Given the description of an element on the screen output the (x, y) to click on. 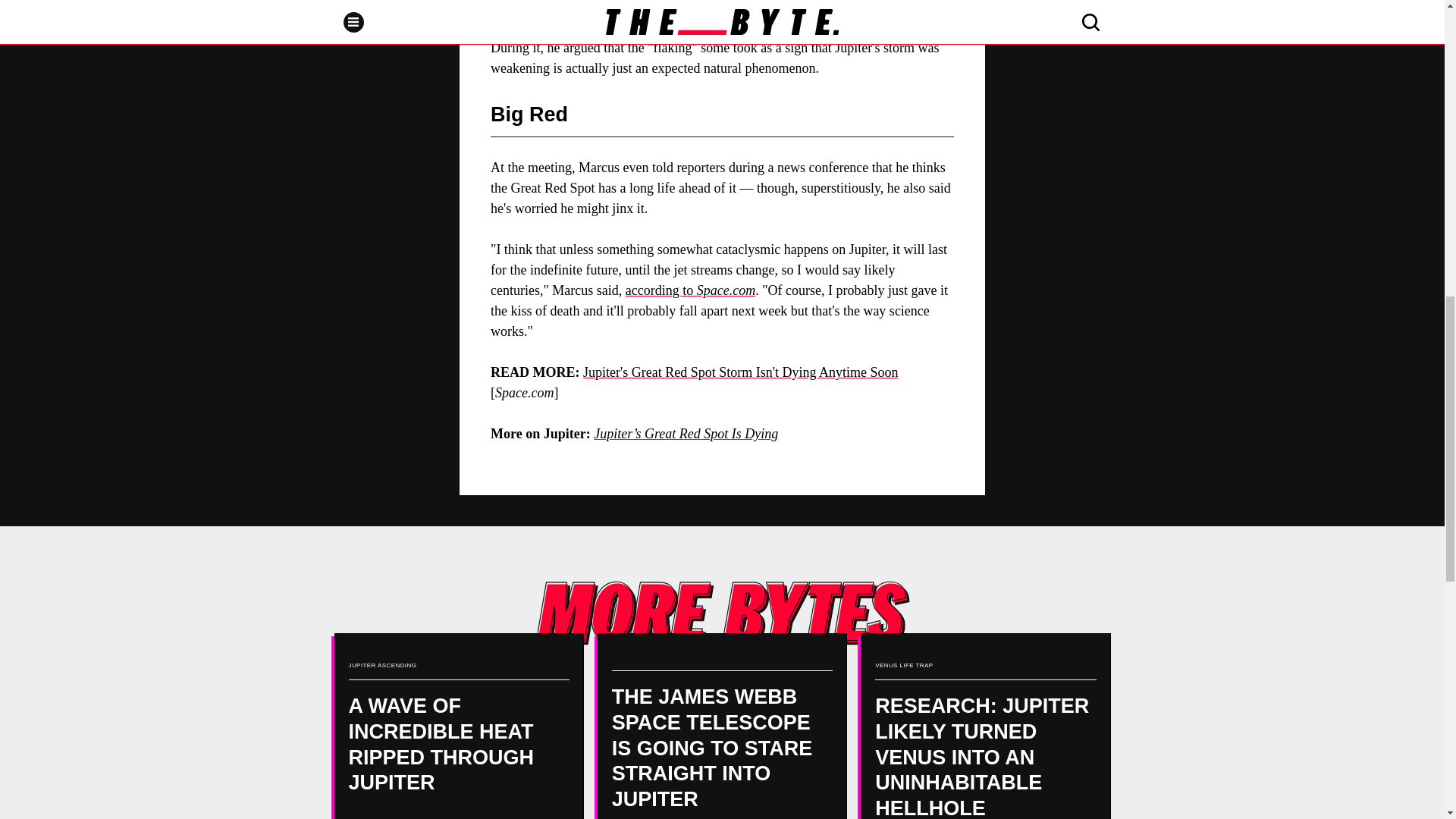
according to Space.com (690, 290)
A Wave of Incredible Heat Ripped Through Jupiter (458, 726)
Jupiter's Great Red Spot Storm Isn't Dying Anytime Soon (740, 372)
